Given the description of an element on the screen output the (x, y) to click on. 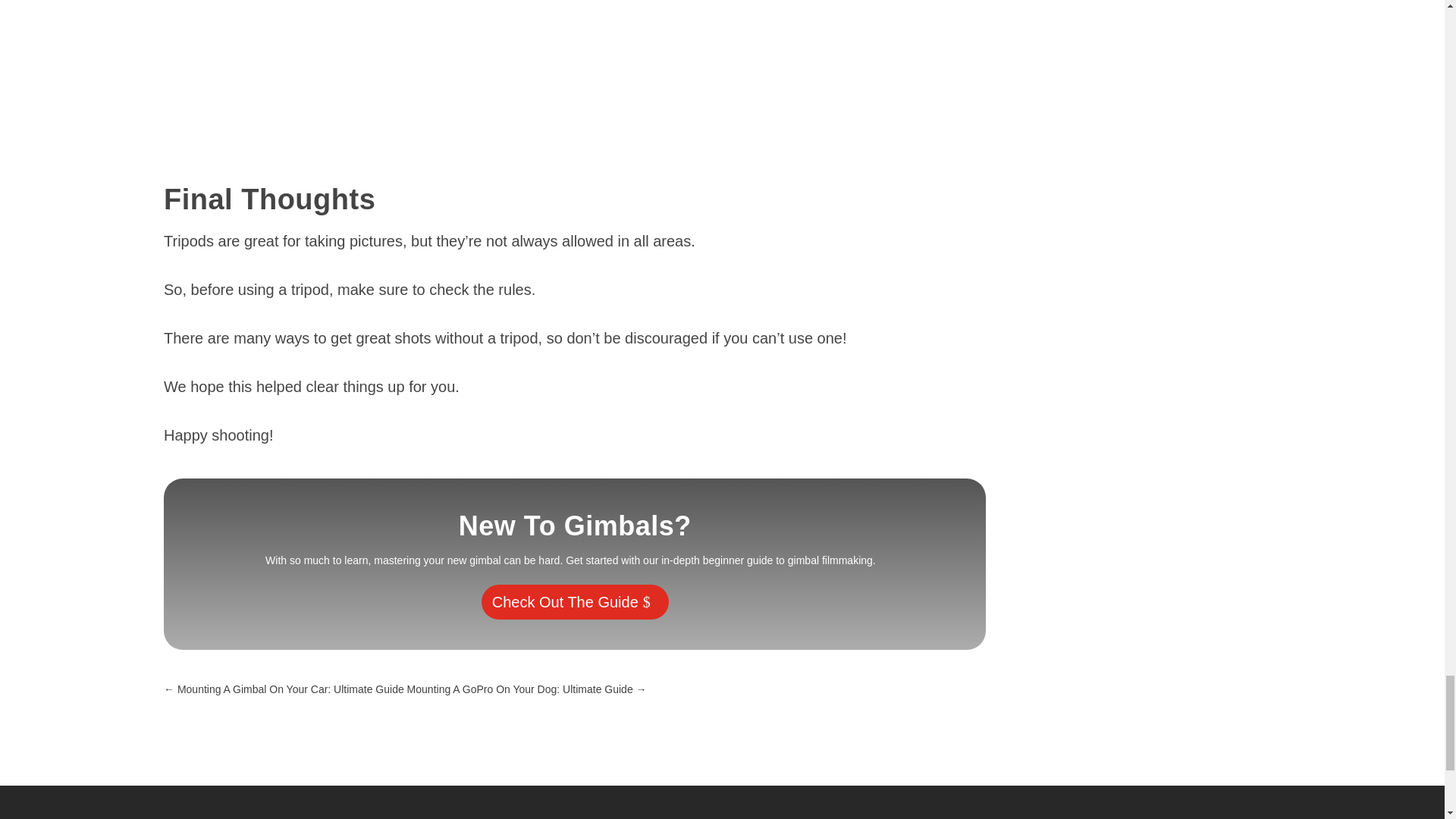
Check Out The Guide (574, 601)
